Given the description of an element on the screen output the (x, y) to click on. 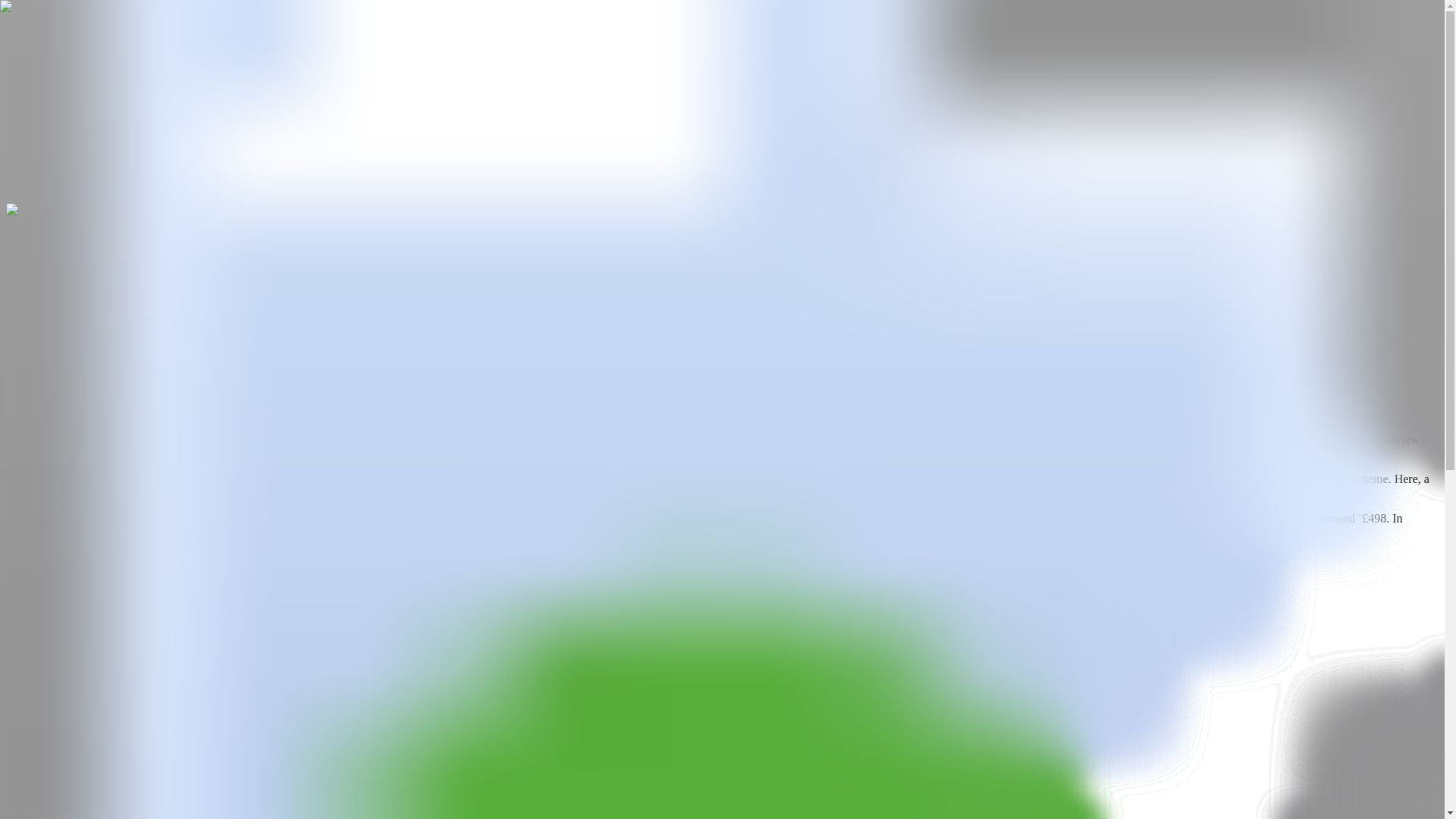
Homes For Sale (68, 42)
Homes For Sale (68, 73)
Developers (330, 73)
Open main menu (50, 27)
Berkshire (30, 102)
Contact us (159, 362)
Primary (28, 618)
Shared Ownership Homes (170, 42)
Blog (17, 42)
More properties from this developer (93, 195)
Build To Rent (268, 73)
Secondary (82, 618)
All (17, 794)
Sunninghill (94, 102)
Developers (330, 42)
